Given the description of an element on the screen output the (x, y) to click on. 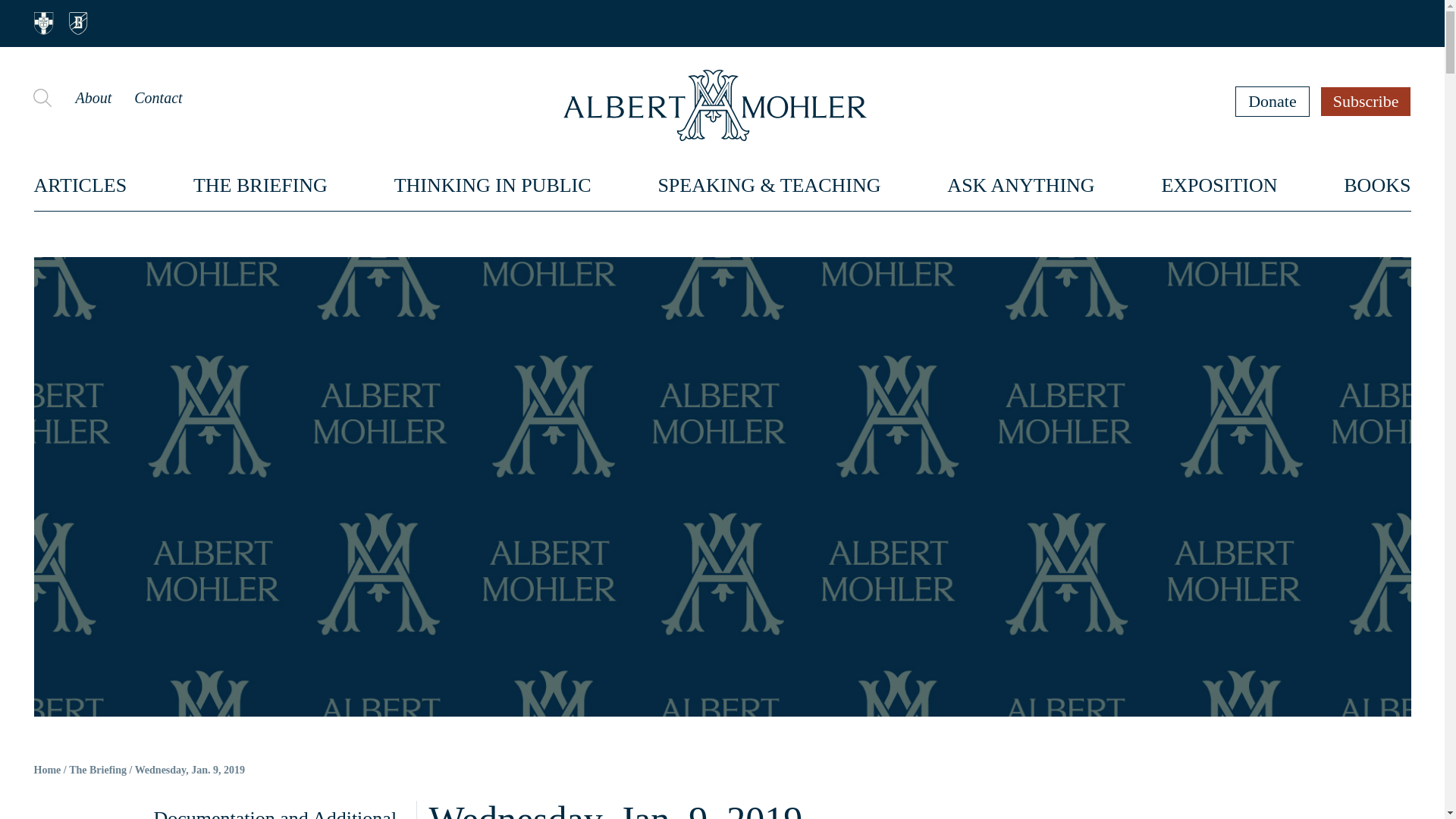
EXPOSITION (1218, 185)
Home (47, 770)
ARTICLES (79, 185)
About (93, 97)
ASK ANYTHING (1020, 185)
Donate (1272, 101)
The Briefing (97, 770)
THINKING IN PUBLIC (492, 185)
Subscribe (1366, 101)
THE BRIEFING (260, 185)
Contact (157, 97)
BOOKS (1376, 185)
